Given the description of an element on the screen output the (x, y) to click on. 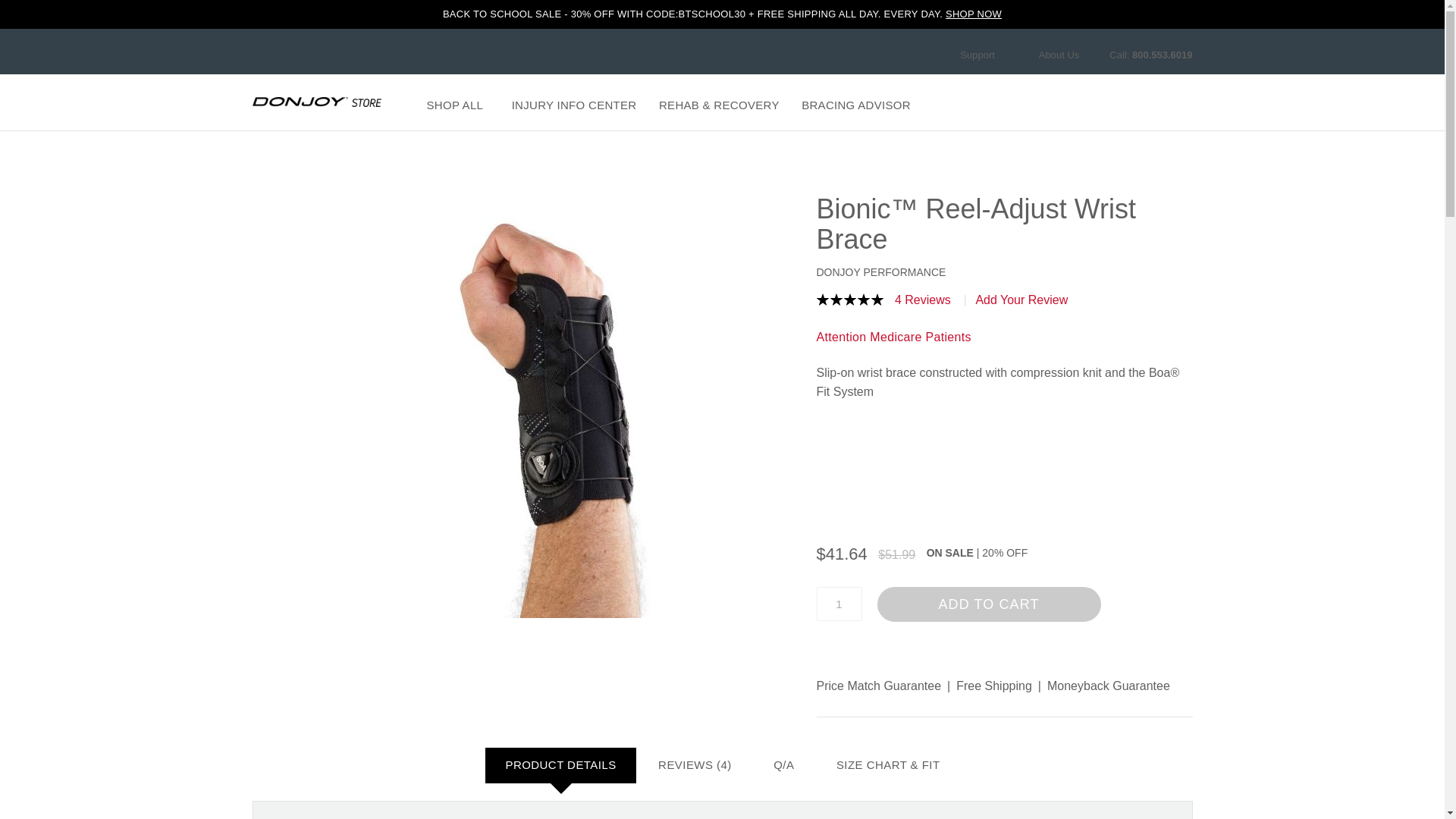
Support (984, 55)
800.553.6019 (1162, 54)
SHOP NOW (972, 13)
DonJoy Store (315, 101)
DonJoy Store (315, 101)
1 (838, 603)
Add to Cart (988, 604)
About Us (1058, 55)
Qty (838, 603)
